Given the description of an element on the screen output the (x, y) to click on. 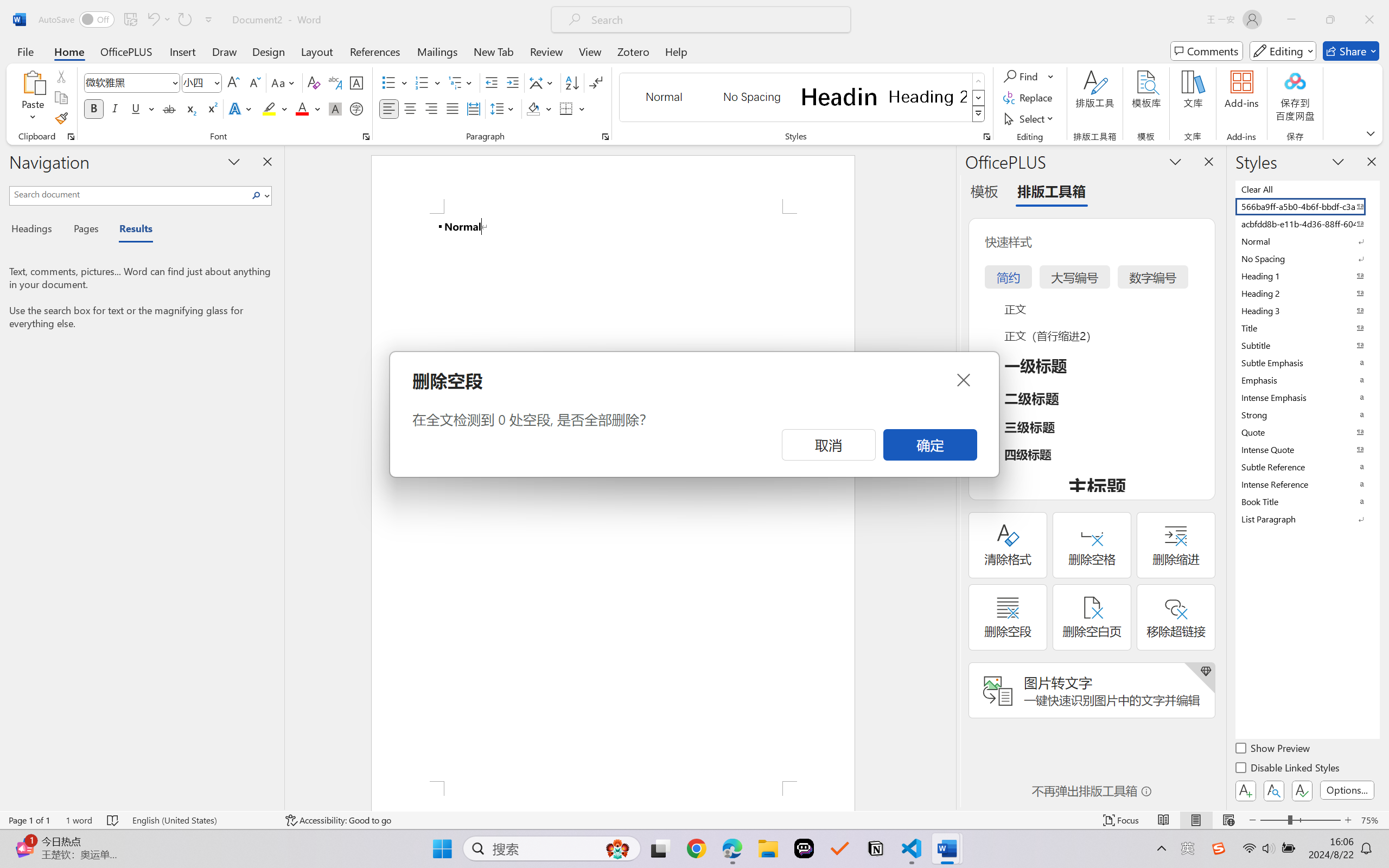
Italic (115, 108)
Decrease Indent (491, 82)
Help (675, 51)
File Tab (24, 51)
Repeat Doc Close (184, 19)
Zotero (632, 51)
Spelling and Grammar Check No Errors (113, 819)
Headings (35, 229)
Font Size (196, 82)
More Options (1051, 75)
Minimize (1291, 19)
No Spacing (1306, 258)
Disable Linked Styles (1287, 769)
AutoSave (76, 19)
